Given the description of an element on the screen output the (x, y) to click on. 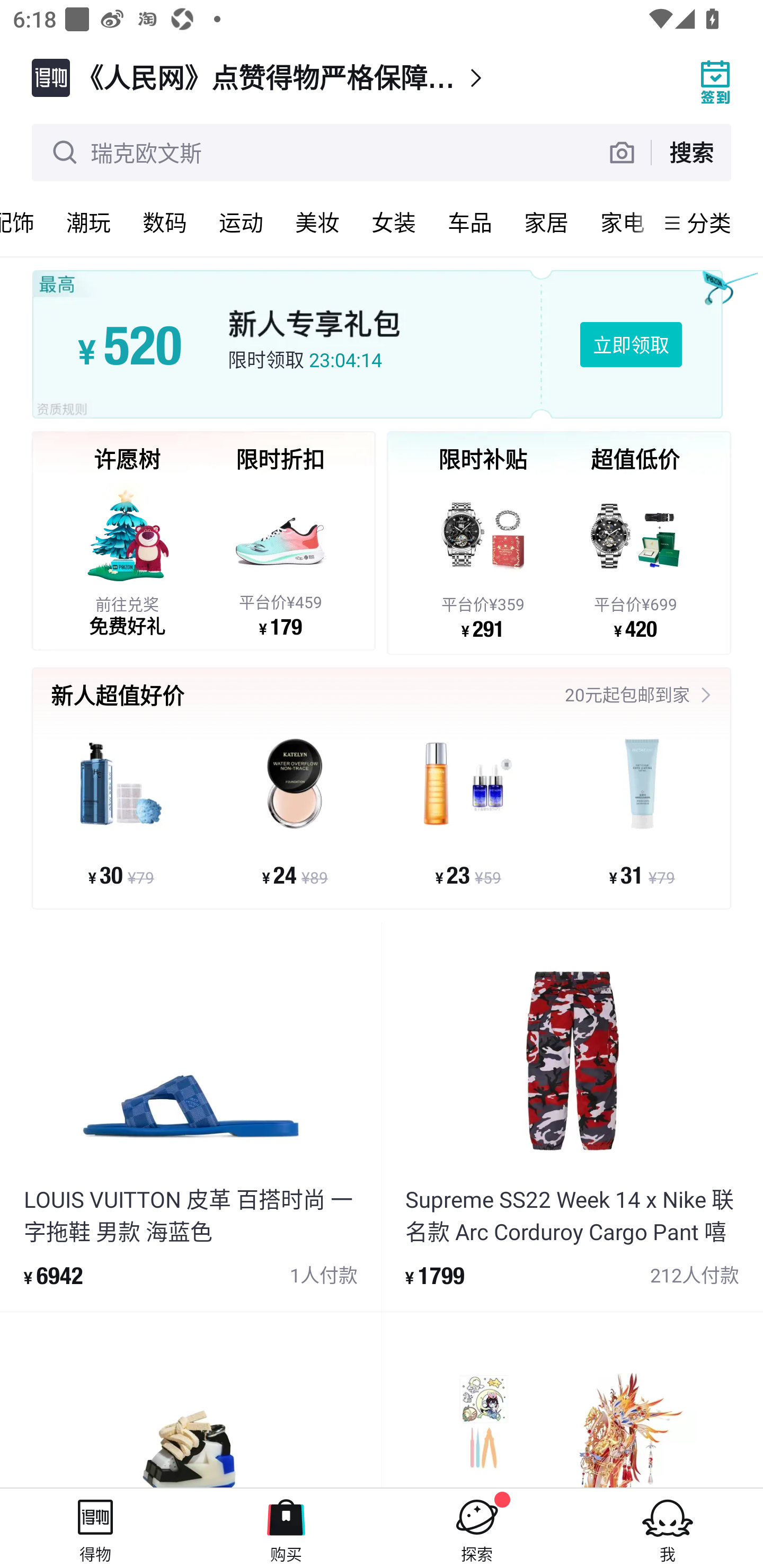
瑞克欧文斯 搜索 (381, 152)
搜索 (690, 152)
潮玩 (88, 222)
数码 (164, 222)
运动 (240, 222)
美妆 (317, 222)
女装 (393, 222)
车品 (469, 222)
家居 (546, 222)
家电 (619, 222)
分类 (708, 222)
立即领取 (630, 343)
平台价¥459 ¥ 179 (279, 557)
前往兑奖 免费好礼 (127, 558)
平台价¥359 ¥ 291 (482, 559)
平台价¥699 ¥ 420 (635, 559)
¥ 30 ¥79 (121, 811)
¥ 24 ¥89 (294, 811)
¥ 23 ¥59 (468, 811)
¥ 31 ¥79 (641, 811)
得物 (95, 1528)
购买 (285, 1528)
探索 (476, 1528)
我 (667, 1528)
